Given the description of an element on the screen output the (x, y) to click on. 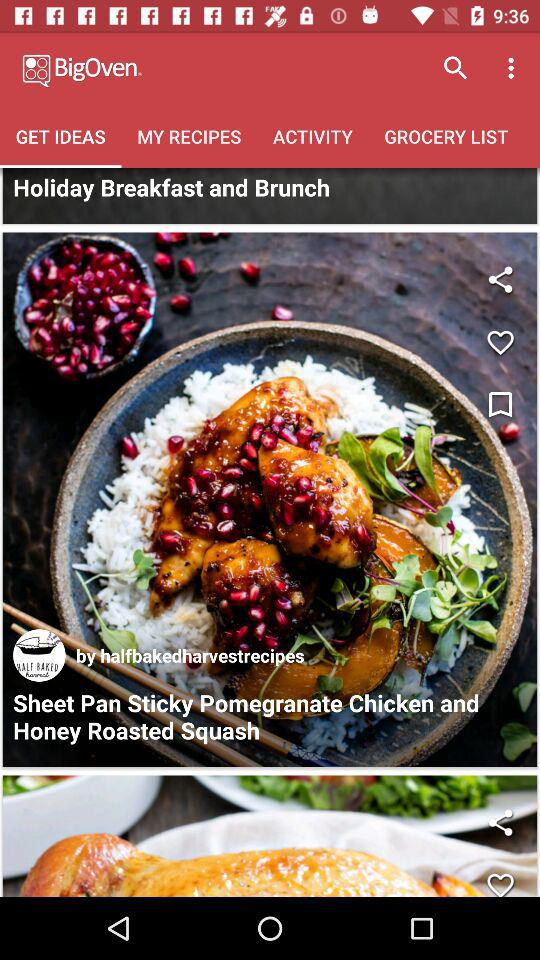
tap the icon at the bottom left corner (39, 655)
